Given the description of an element on the screen output the (x, y) to click on. 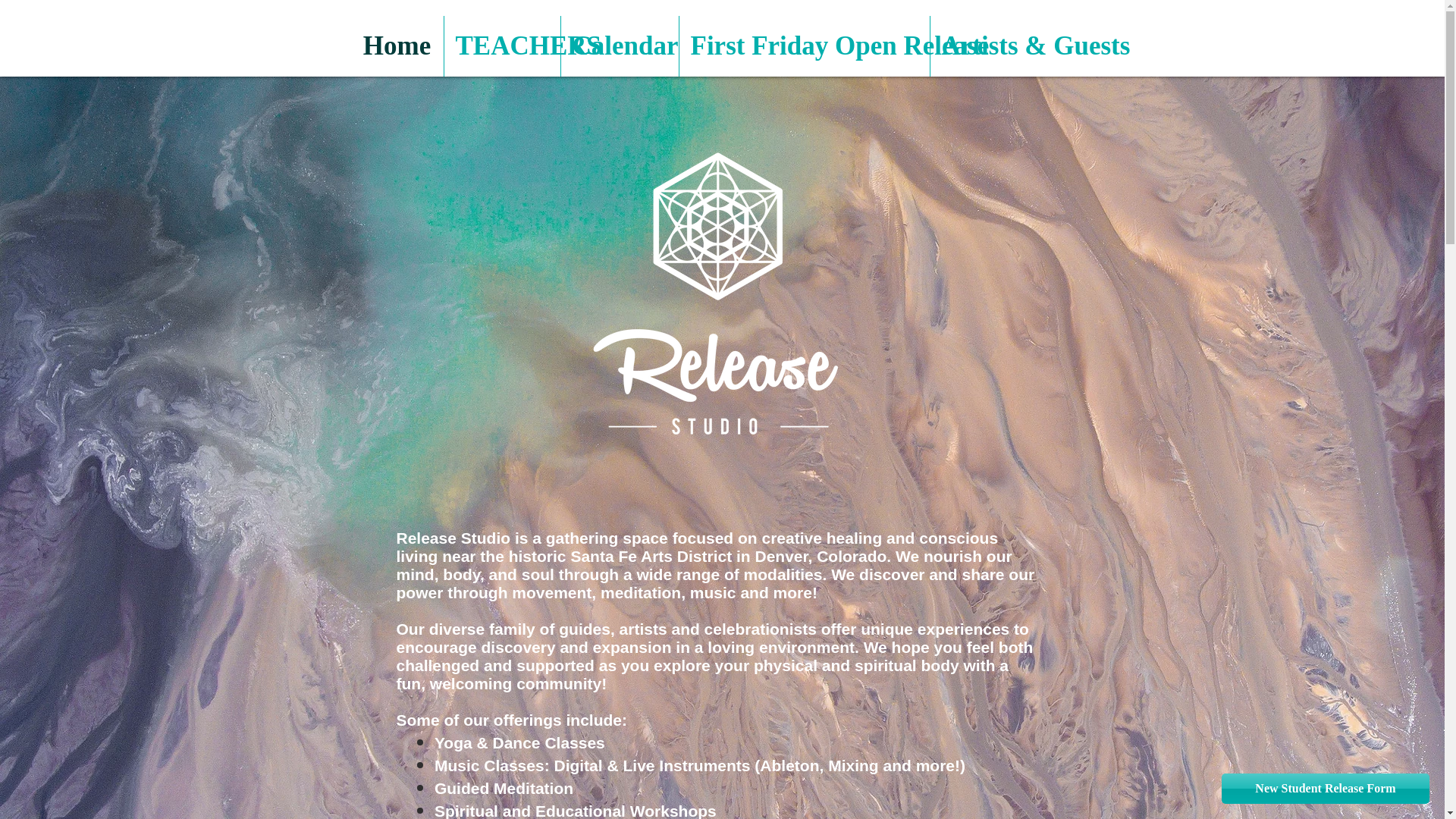
First Friday Open Release (804, 45)
New Student Release Form (1325, 788)
Home (396, 45)
TEACHERS (502, 45)
Calendar (619, 45)
